Given the description of an element on the screen output the (x, y) to click on. 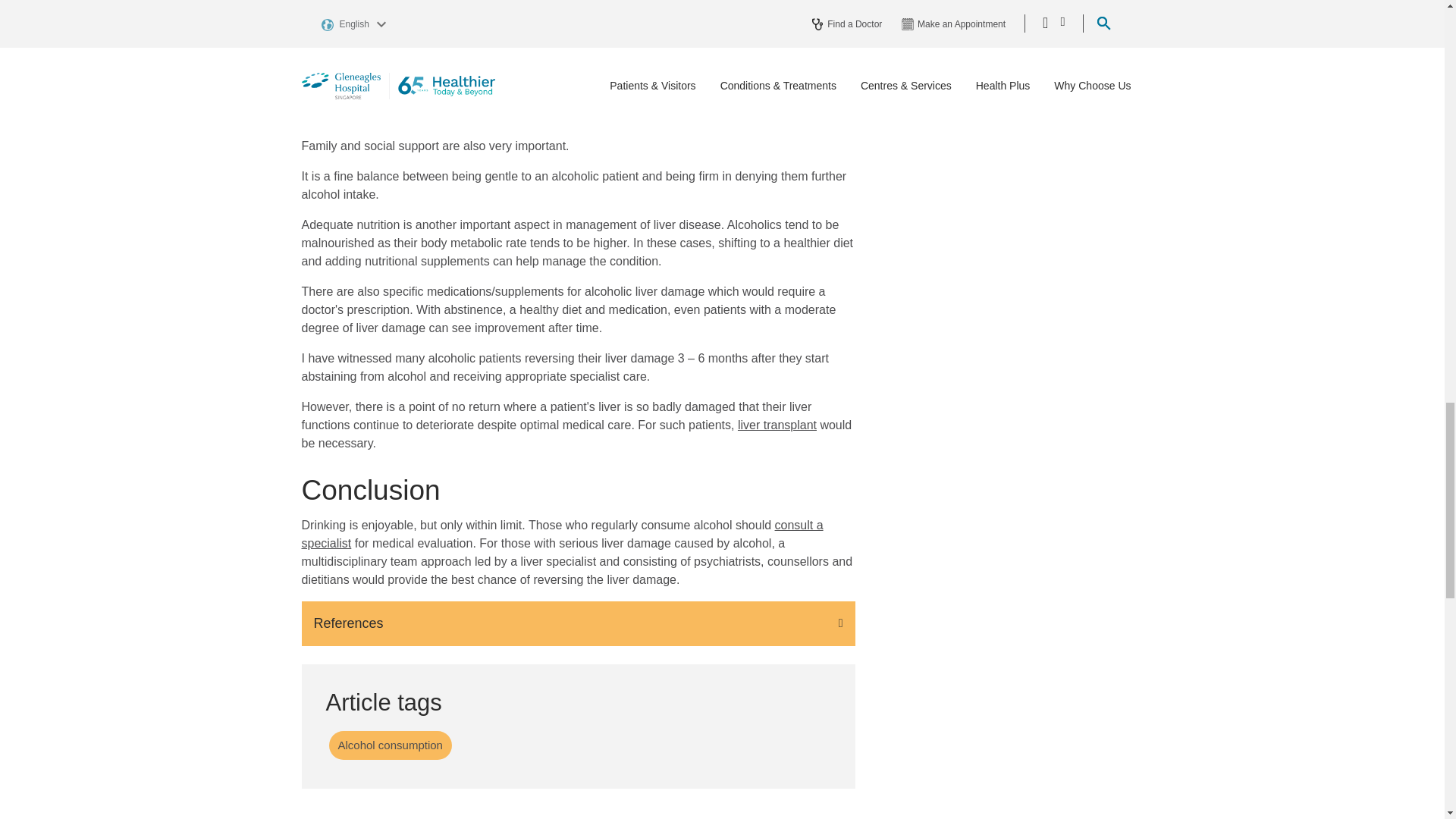
Make an appointment (562, 533)
